Given the description of an element on the screen output the (x, y) to click on. 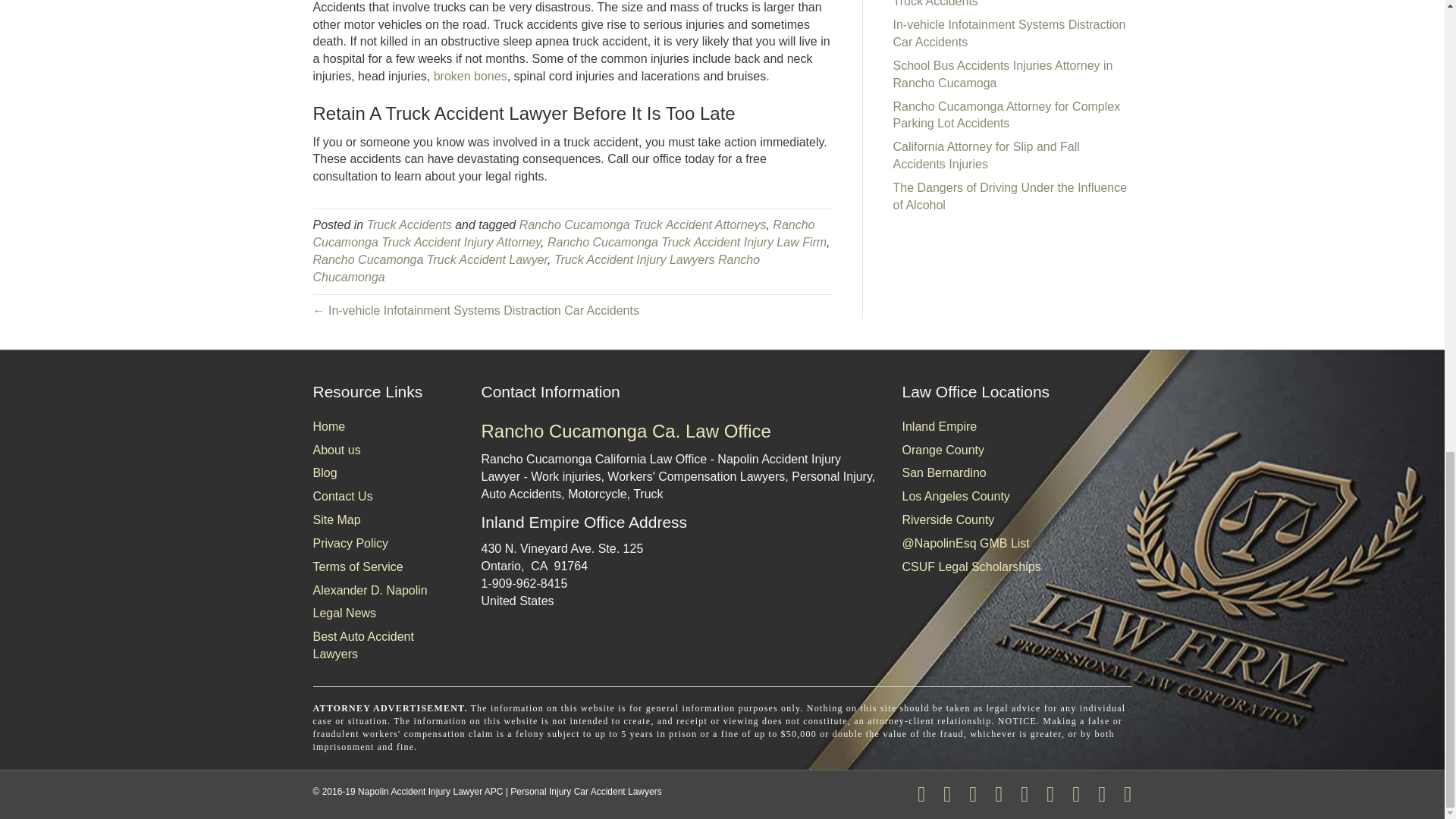
Rancho Cucamonga Truck Accident Lawyer (430, 259)
Truck Accident Injury Lawyers Rancho Chucamonga (536, 268)
Rancho Cucamonga Truck Accident Attorneys (643, 224)
Rancho Cucamonga Truck Accident Injury Attorney (563, 233)
Rancho Cucamonga Truck Accident Injury Law Firm (687, 241)
Truck Accidents (408, 224)
broken bones (469, 75)
